Given the description of an element on the screen output the (x, y) to click on. 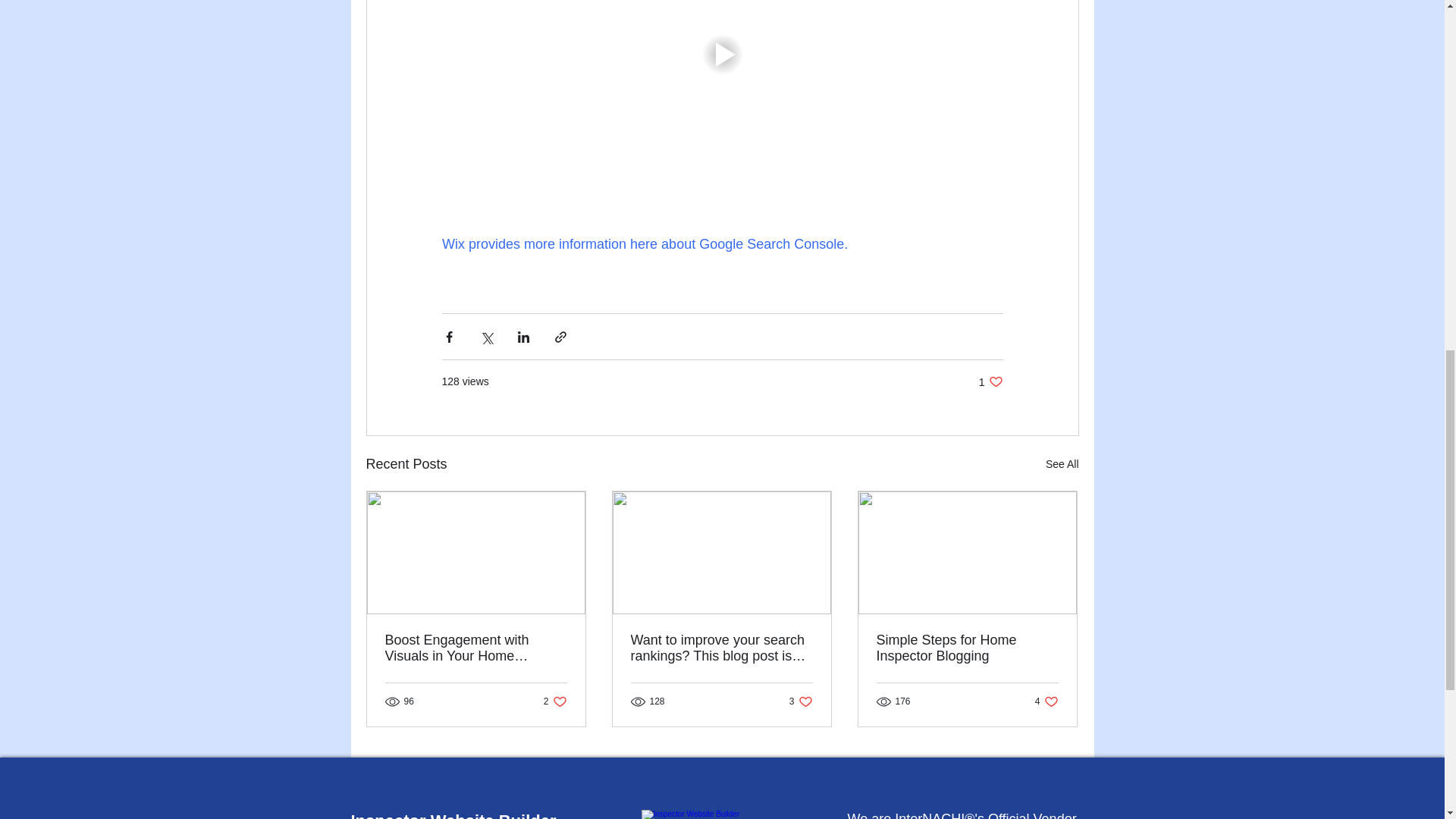
Simple Steps for Home Inspector Blogging (990, 381)
Boost Engagement with Visuals in Your Home Inspector Blog (800, 701)
Inspector Website Builder (967, 648)
See All (476, 648)
